Given the description of an element on the screen output the (x, y) to click on. 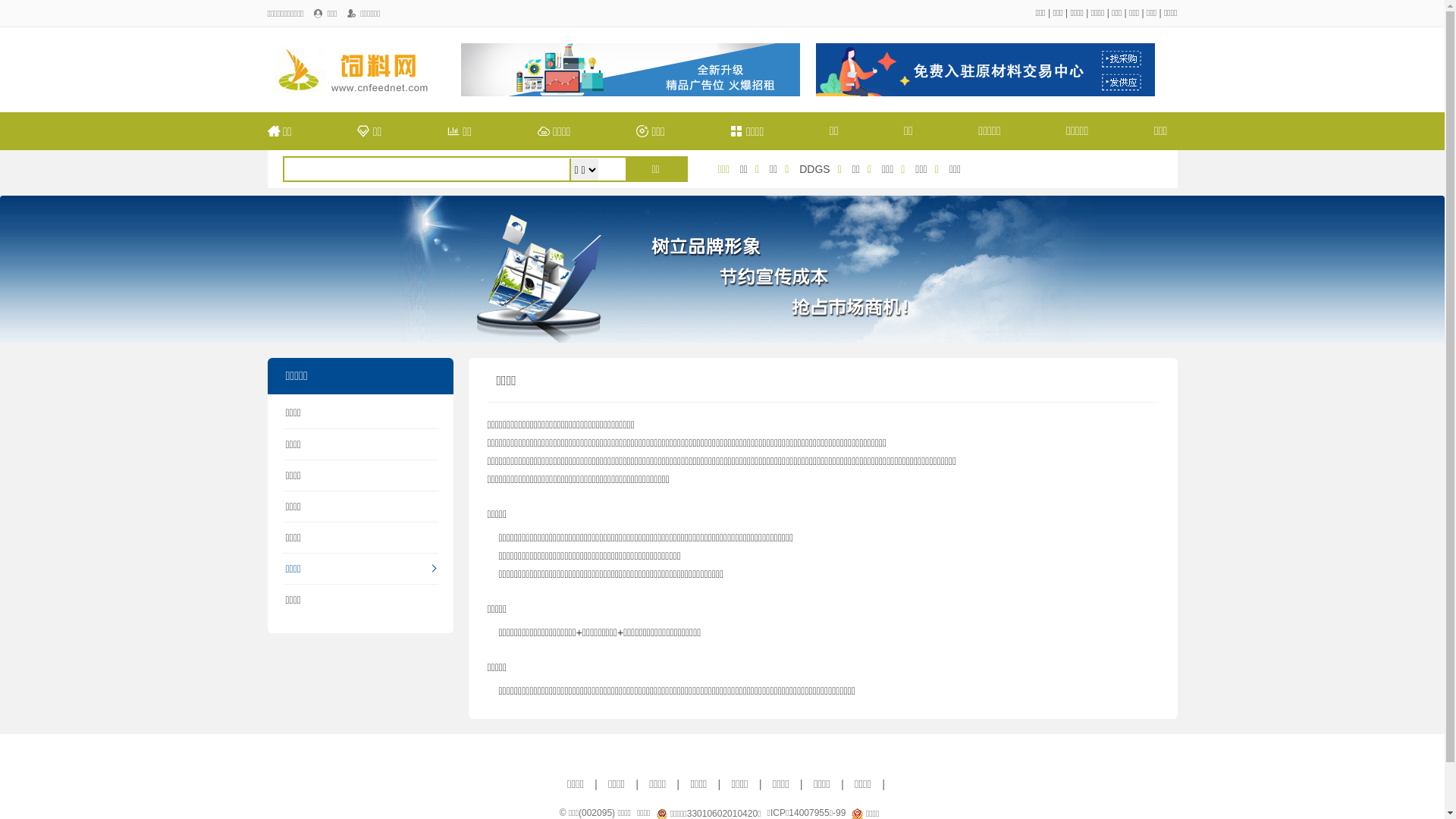
DDGS Element type: text (814, 169)
